Given the description of an element on the screen output the (x, y) to click on. 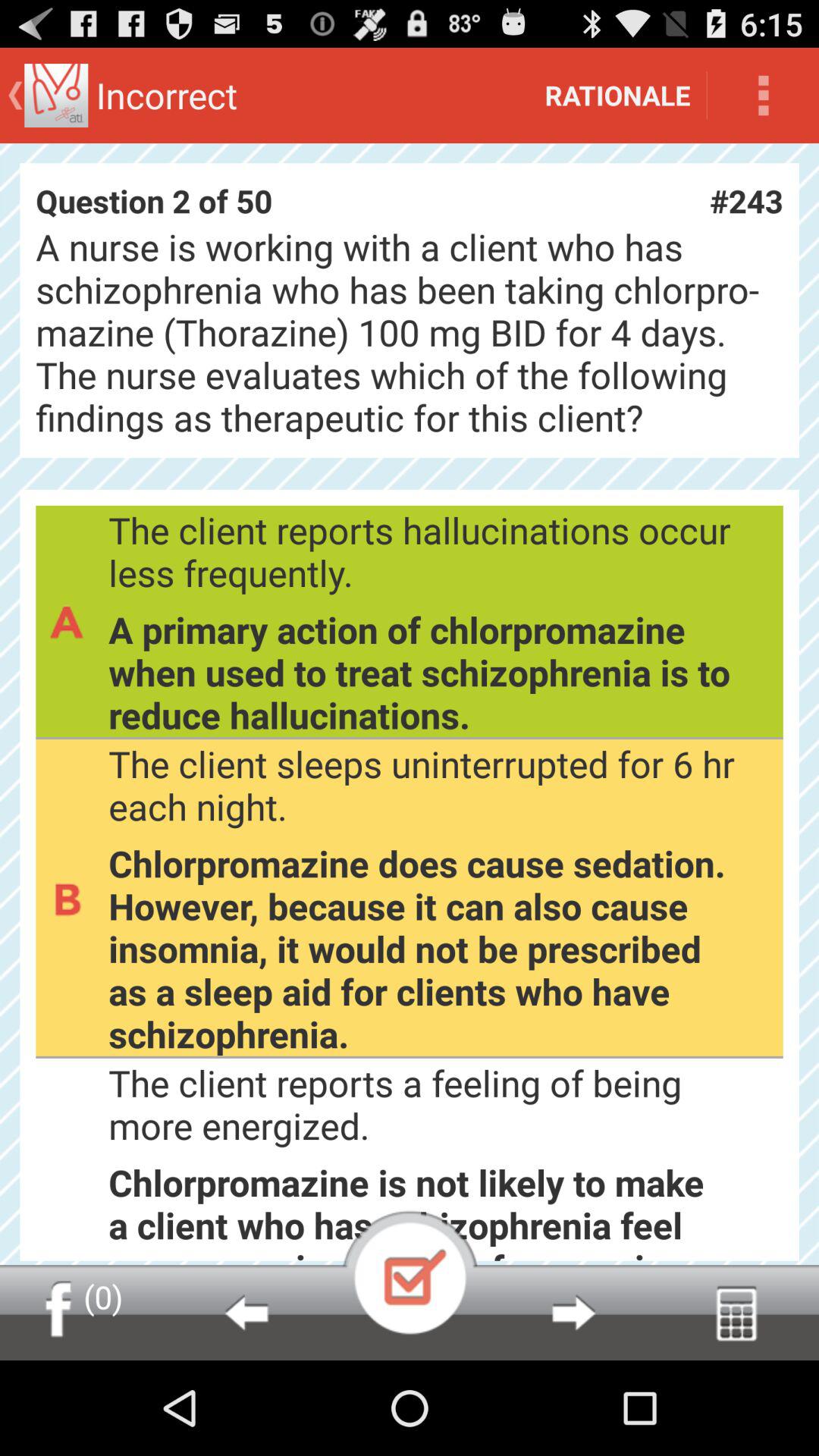
point out that the answer has been marked and show the correct one (409, 1272)
